Given the description of an element on the screen output the (x, y) to click on. 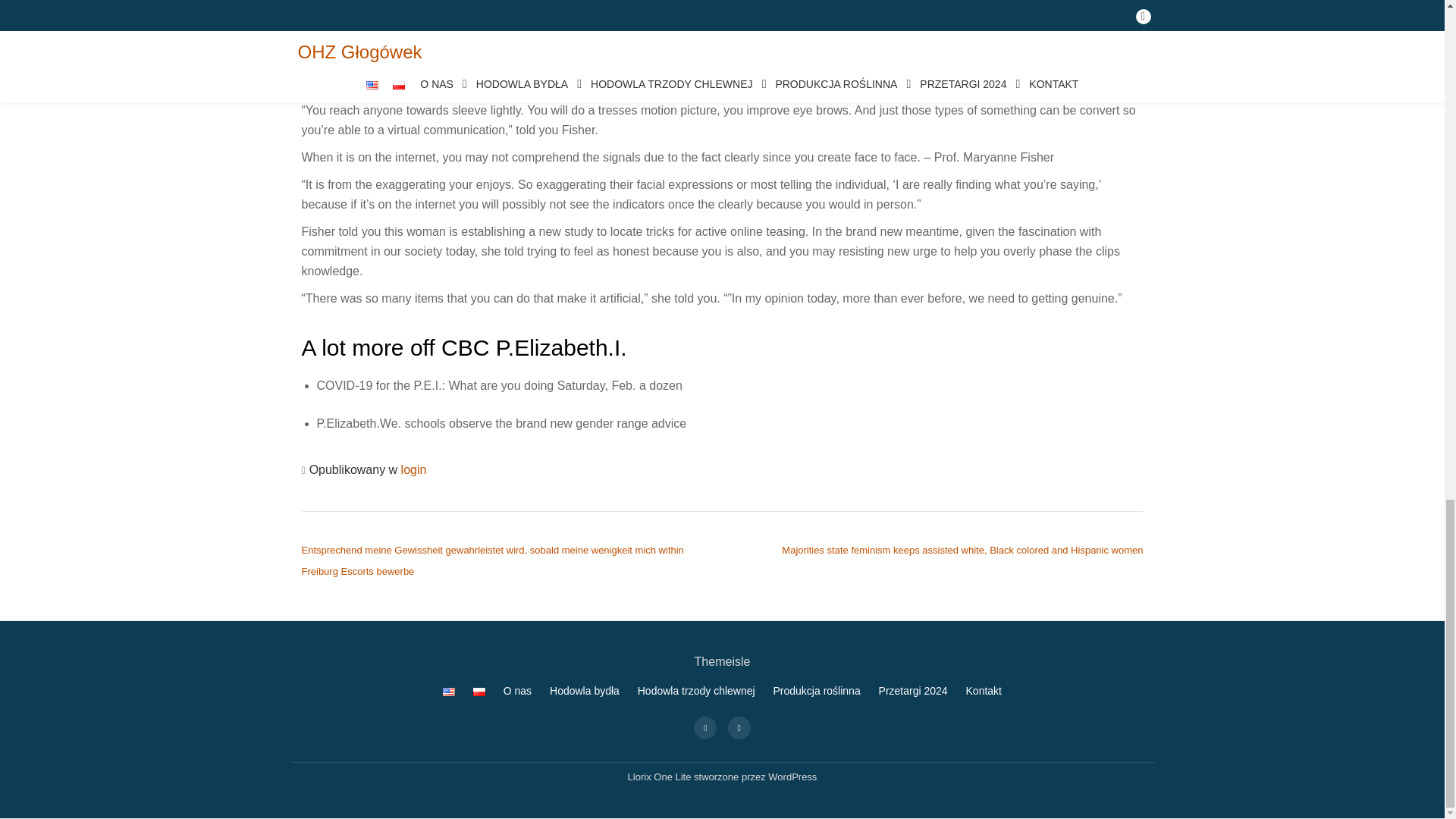
Hodowla trzody chlewnej (696, 690)
Przetargi 2024 (913, 690)
Kontakt (983, 690)
login (413, 469)
fa-youtube (738, 726)
fa-facebook (705, 726)
Llorix One Lite (660, 776)
O nas (517, 690)
